Given the description of an element on the screen output the (x, y) to click on. 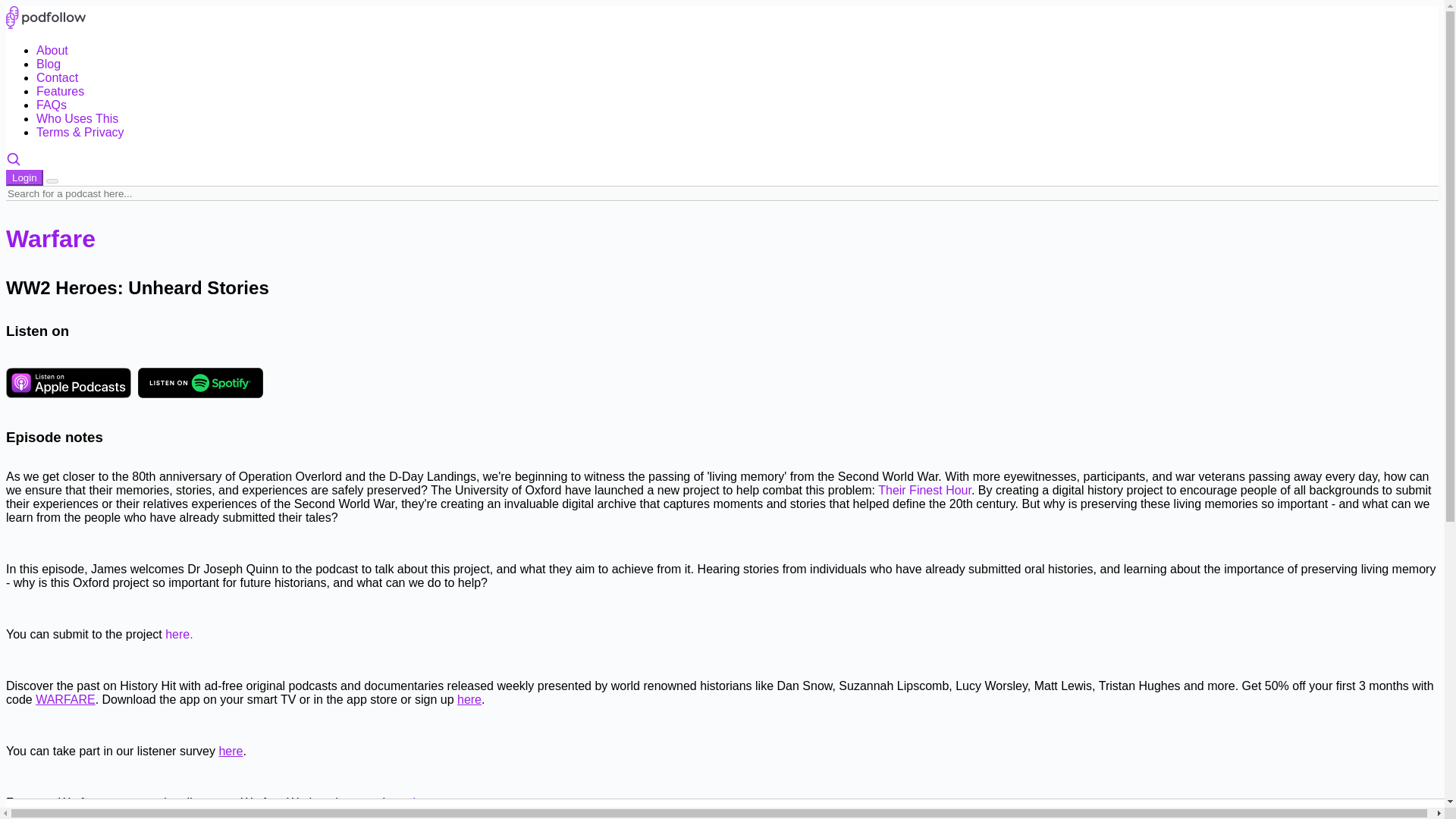
Features (60, 91)
WARFARE (65, 698)
Who Uses This (76, 118)
FAQs (51, 104)
Search (13, 162)
About (52, 50)
here. (178, 634)
Their Finest Hour (924, 490)
Login (24, 177)
Search (13, 159)
